Given the description of an element on the screen output the (x, y) to click on. 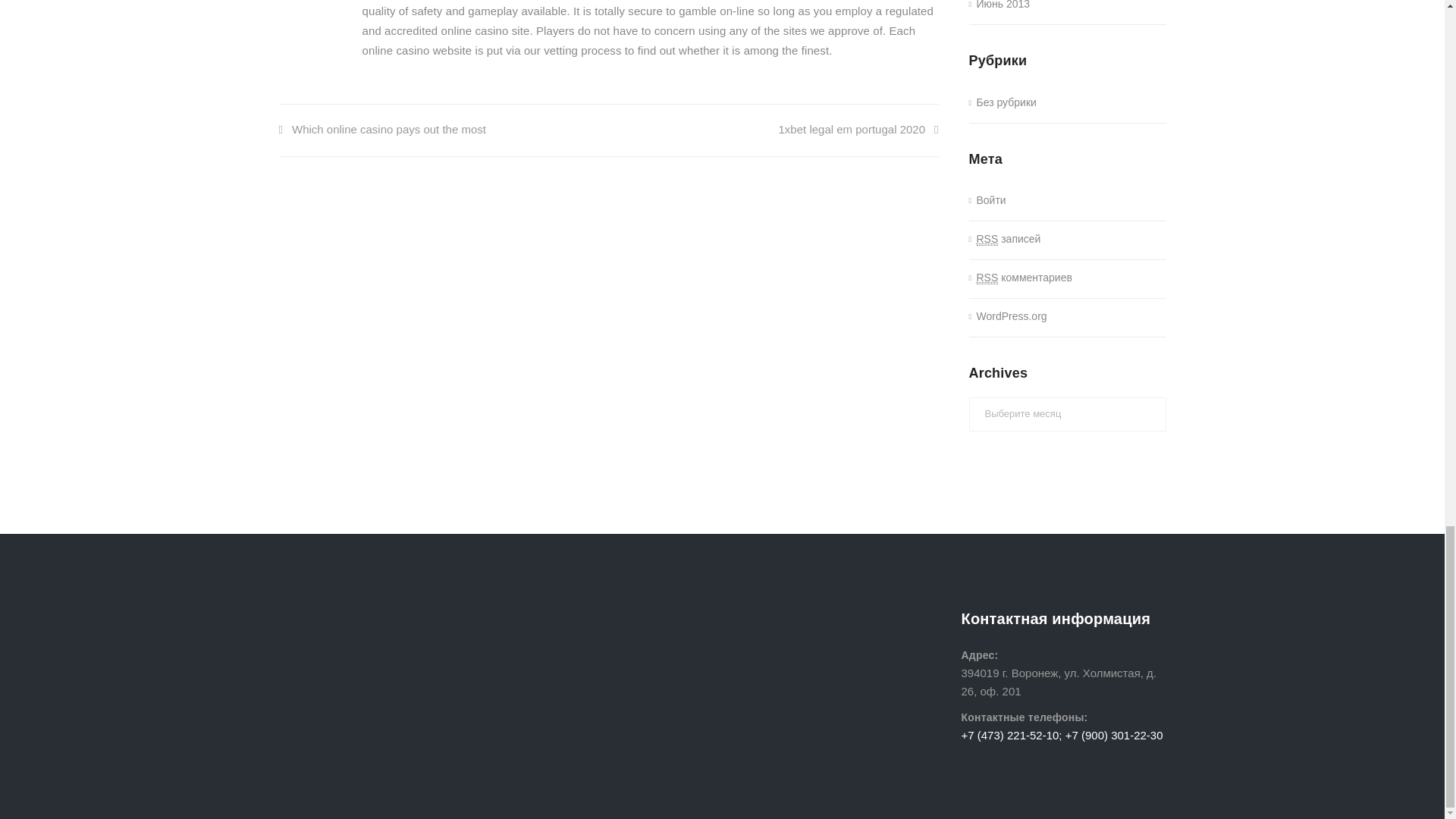
Really Simple Syndication (987, 238)
Which online casino pays out the most (382, 128)
Really Simple Syndication (987, 277)
1xbet legal em portugal 2020 (858, 128)
Which online casino pays out the most (382, 128)
1xbet legal em portugal 2020 (858, 128)
